Given the description of an element on the screen output the (x, y) to click on. 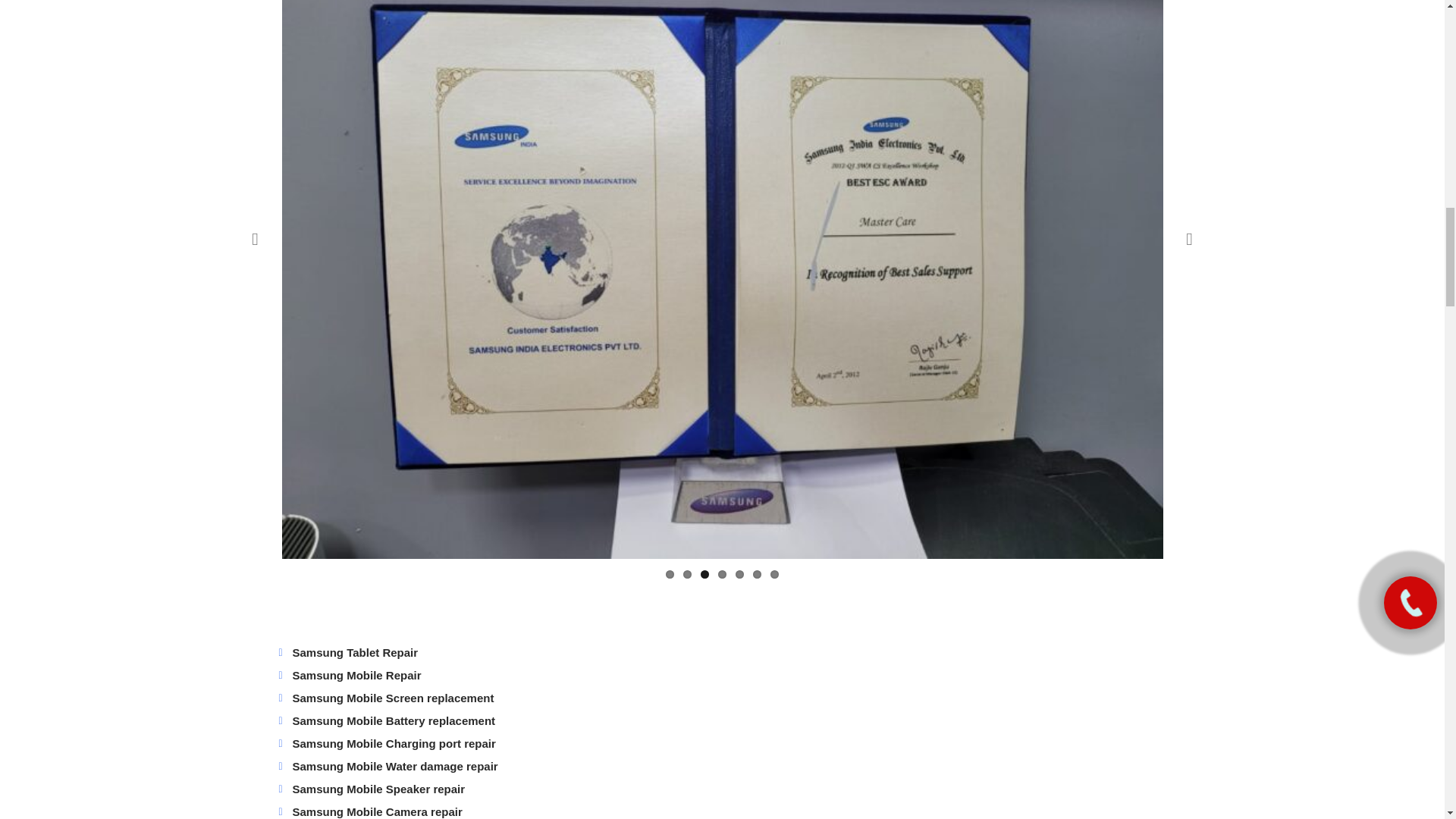
1 (669, 574)
2 (686, 574)
